Given the description of an element on the screen output the (x, y) to click on. 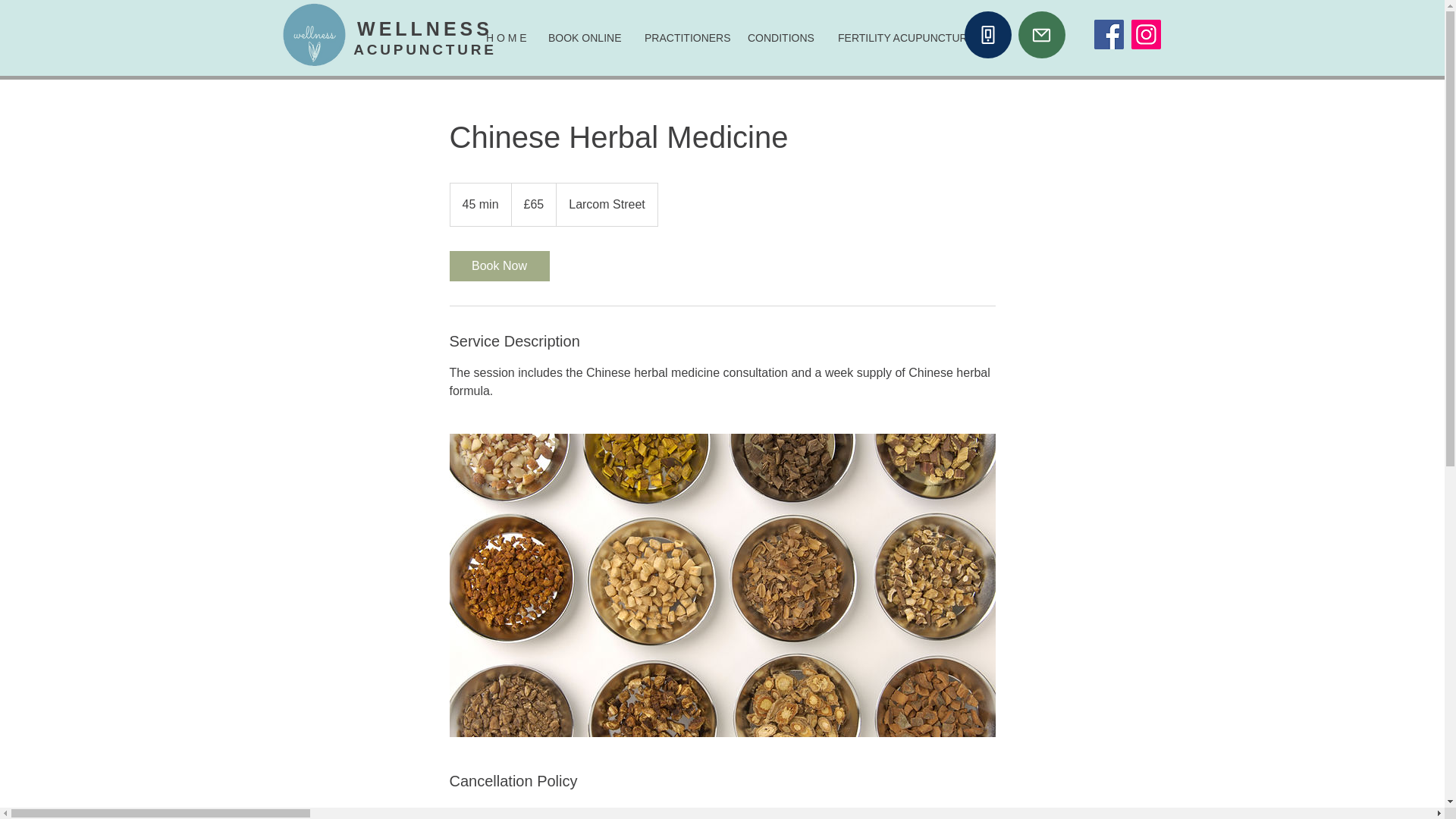
CONDITIONS (781, 37)
FERTILITY ACUPUNCTURE (901, 37)
H O M E (505, 37)
BOOK ONLINE (585, 37)
Book Now (498, 265)
PRACTITIONERS (684, 37)
WELLNESS (424, 28)
